Given the description of an element on the screen output the (x, y) to click on. 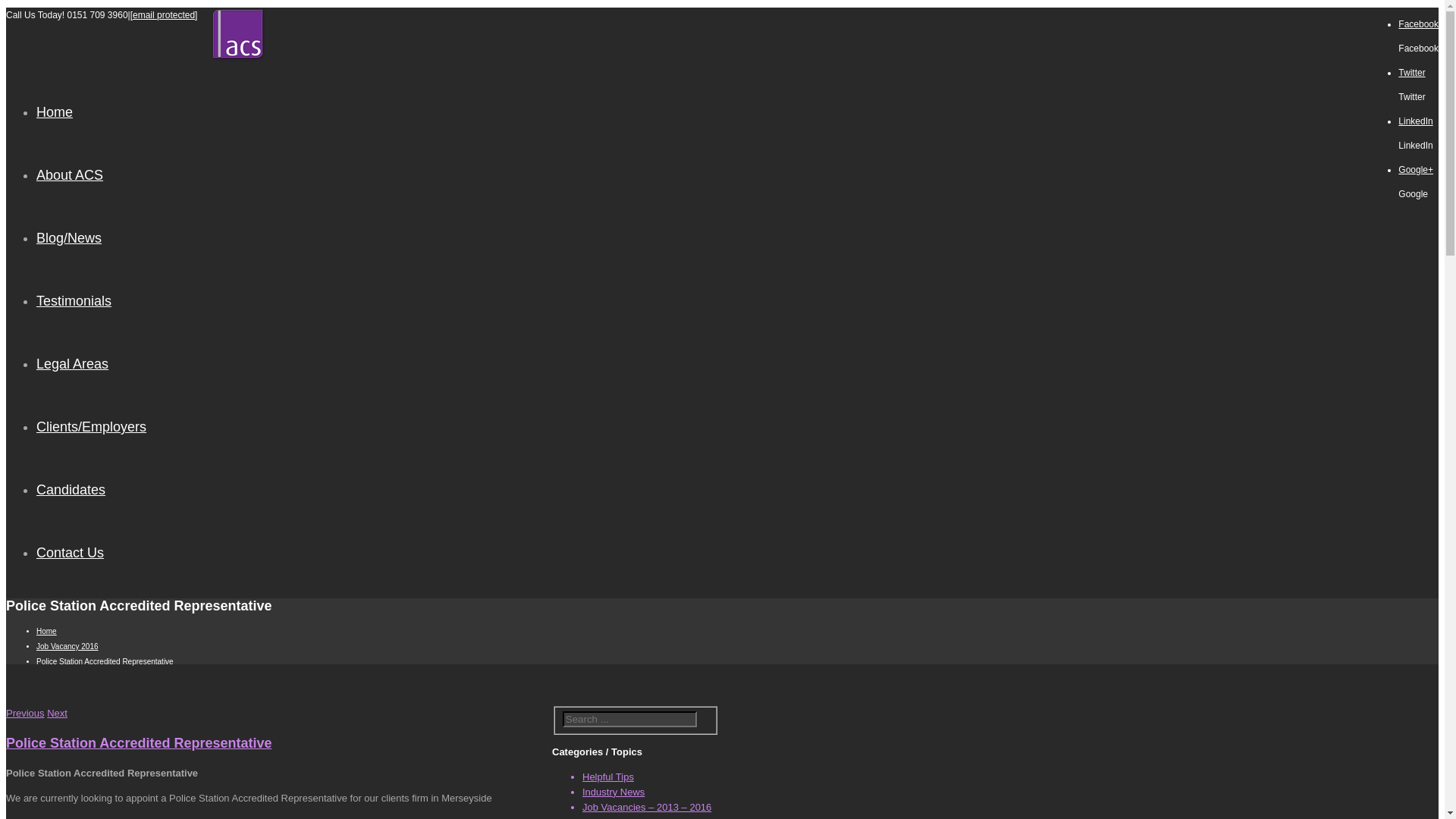
About ACS (69, 174)
Home (46, 631)
Testimonials (74, 300)
Job Vacancy 2016 (622, 817)
Job Vacancy 2016 (67, 646)
Next (56, 713)
Legal Areas (71, 363)
Police Station Accredited Representative (137, 743)
Industry News (613, 791)
Home (54, 111)
